Given the description of an element on the screen output the (x, y) to click on. 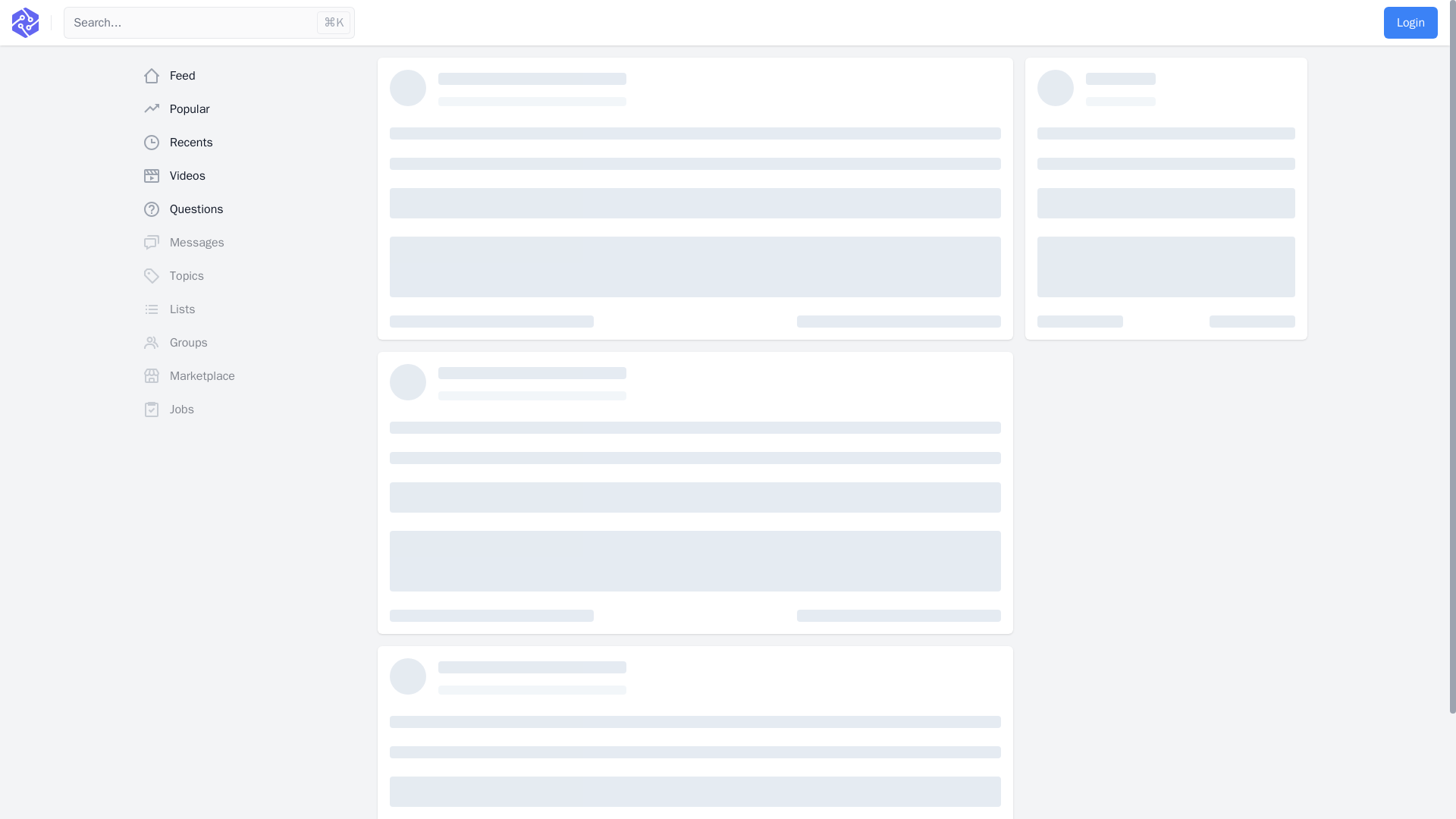
Popular (253, 109)
Recents (253, 142)
Login (1411, 22)
Questions (253, 209)
Videos (253, 175)
Feed (253, 75)
